Given the description of an element on the screen output the (x, y) to click on. 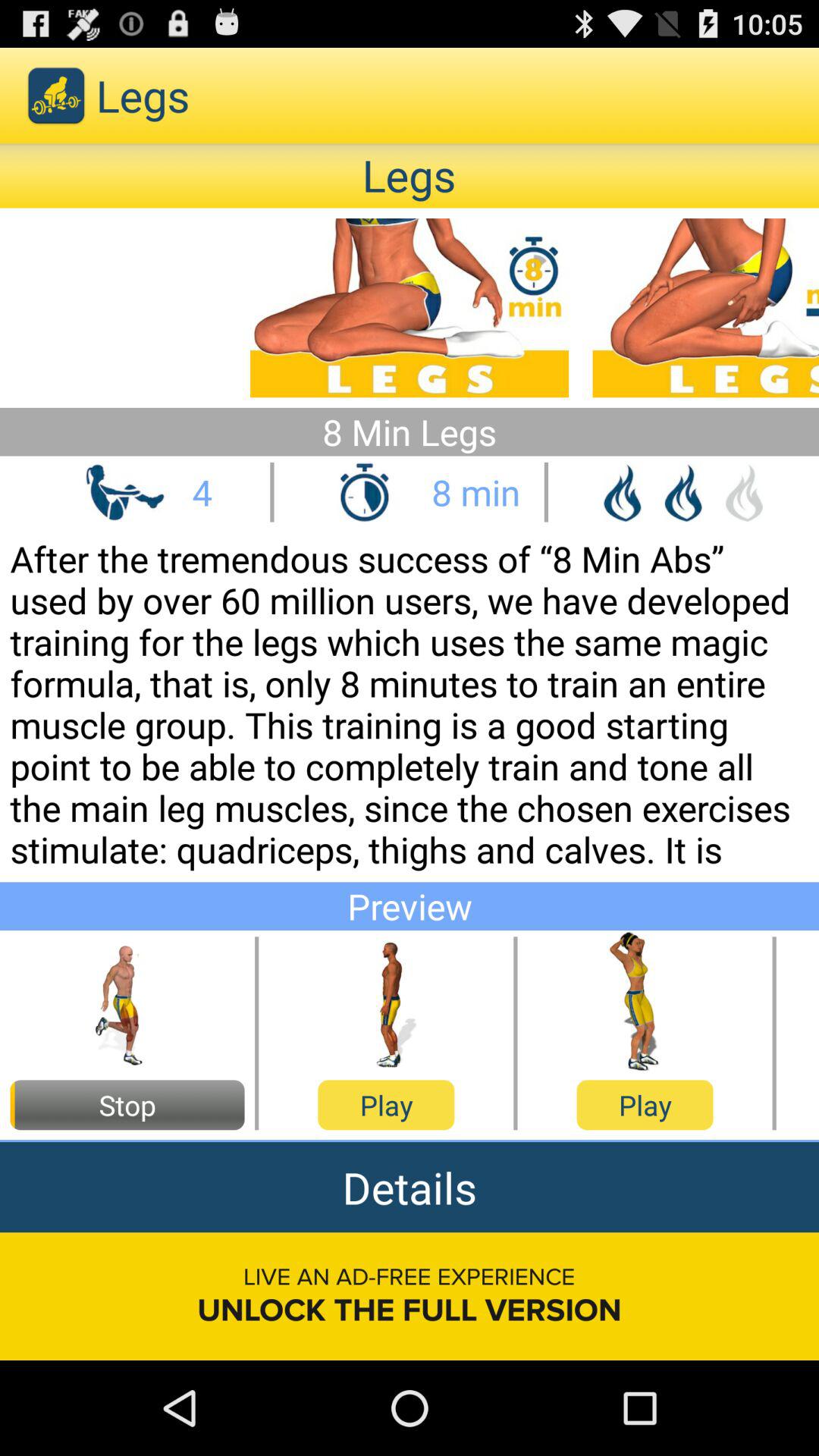
plays the preview of the running action (127, 1001)
